Given the description of an element on the screen output the (x, y) to click on. 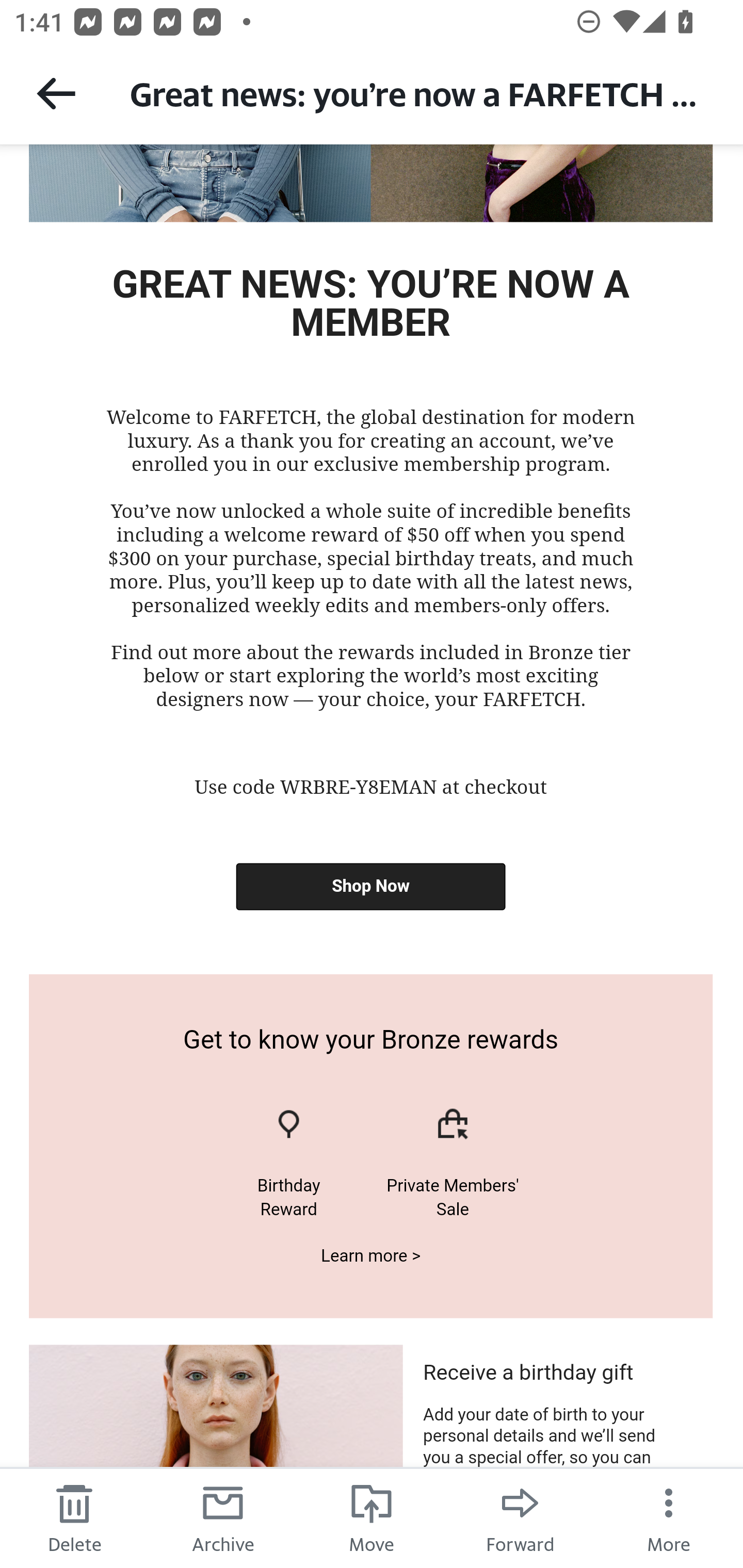
Back (55, 92)
Shop Now (370, 886)
Anniversary gift (287, 1131)
Early sale access (452, 1131)
Learn more > (370, 1255)
Receive a birthday gift (527, 1372)
Delete (74, 1517)
Archive (222, 1517)
Move (371, 1517)
Forward (519, 1517)
More (668, 1517)
